Given the description of an element on the screen output the (x, y) to click on. 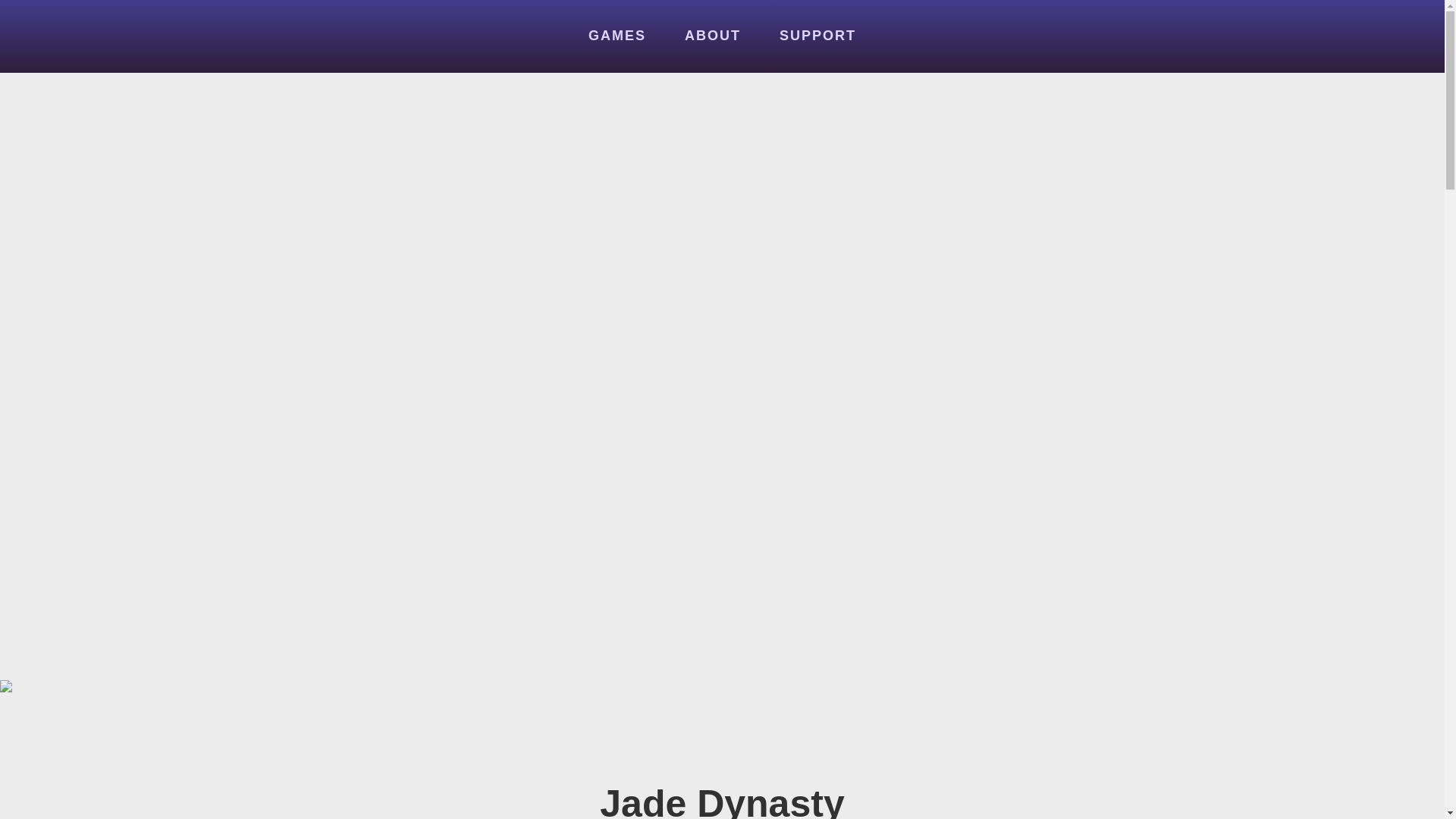
SUPPORT Element type: text (817, 36)
ABOUT Element type: text (712, 36)
GAMES Element type: text (617, 36)
